Given the description of an element on the screen output the (x, y) to click on. 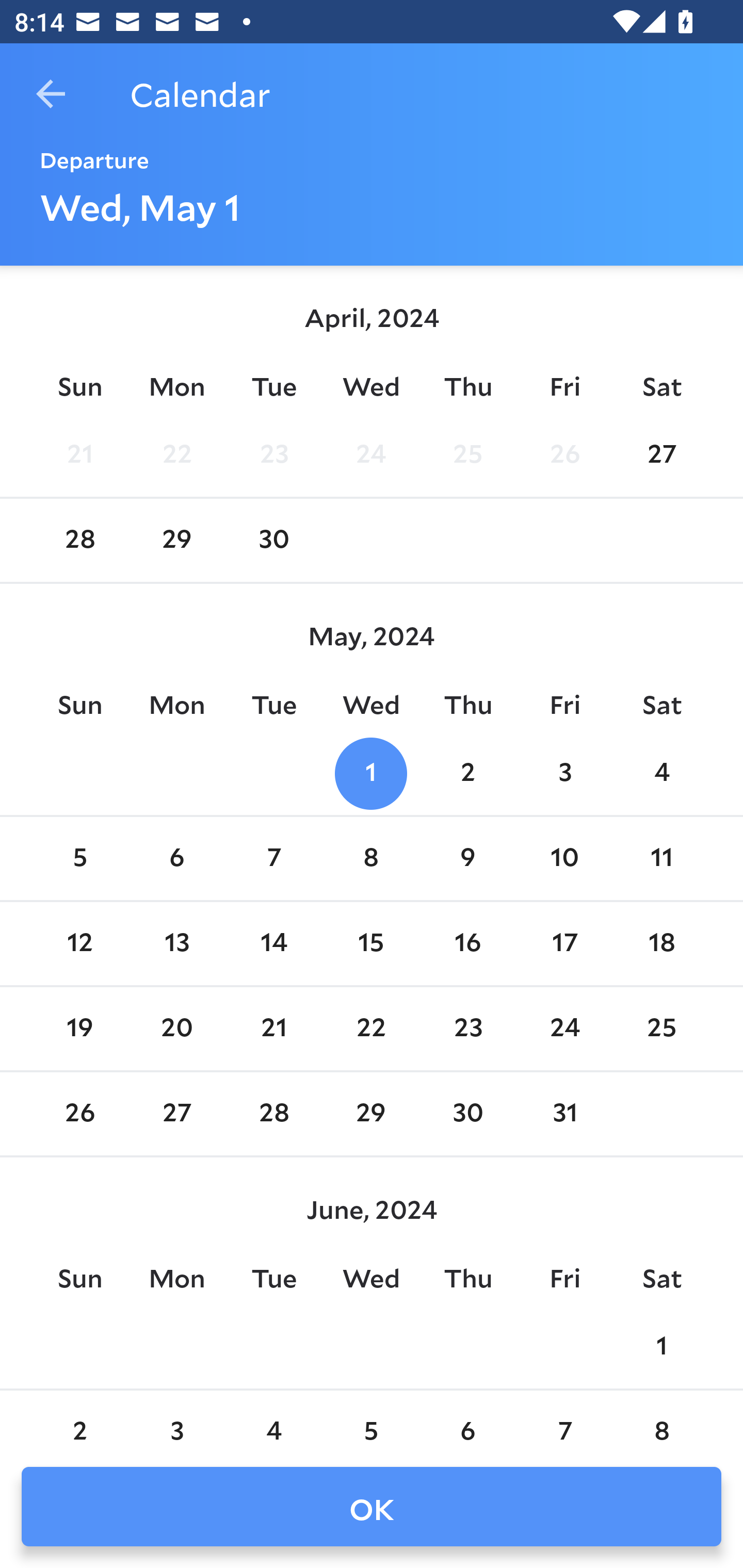
Navigate up (50, 93)
21 (79, 454)
22 (177, 454)
23 (273, 454)
24 (371, 454)
25 (467, 454)
26 (565, 454)
27 (661, 454)
28 (79, 540)
29 (177, 540)
30 (273, 540)
1 (371, 772)
2 (467, 772)
3 (565, 772)
4 (661, 772)
5 (79, 859)
6 (177, 859)
7 (273, 859)
8 (371, 859)
9 (467, 859)
10 (565, 859)
11 (661, 859)
12 (79, 943)
13 (177, 943)
14 (273, 943)
15 (371, 943)
16 (467, 943)
17 (565, 943)
18 (661, 943)
19 (79, 1028)
20 (177, 1028)
21 (273, 1028)
22 (371, 1028)
23 (467, 1028)
24 (565, 1028)
25 (661, 1028)
26 (79, 1114)
27 (177, 1114)
28 (273, 1114)
29 (371, 1114)
30 (467, 1114)
31 (565, 1114)
1 (661, 1346)
2 (79, 1420)
3 (177, 1420)
4 (273, 1420)
5 (371, 1420)
6 (467, 1420)
7 (565, 1420)
8 (661, 1420)
